Given the description of an element on the screen output the (x, y) to click on. 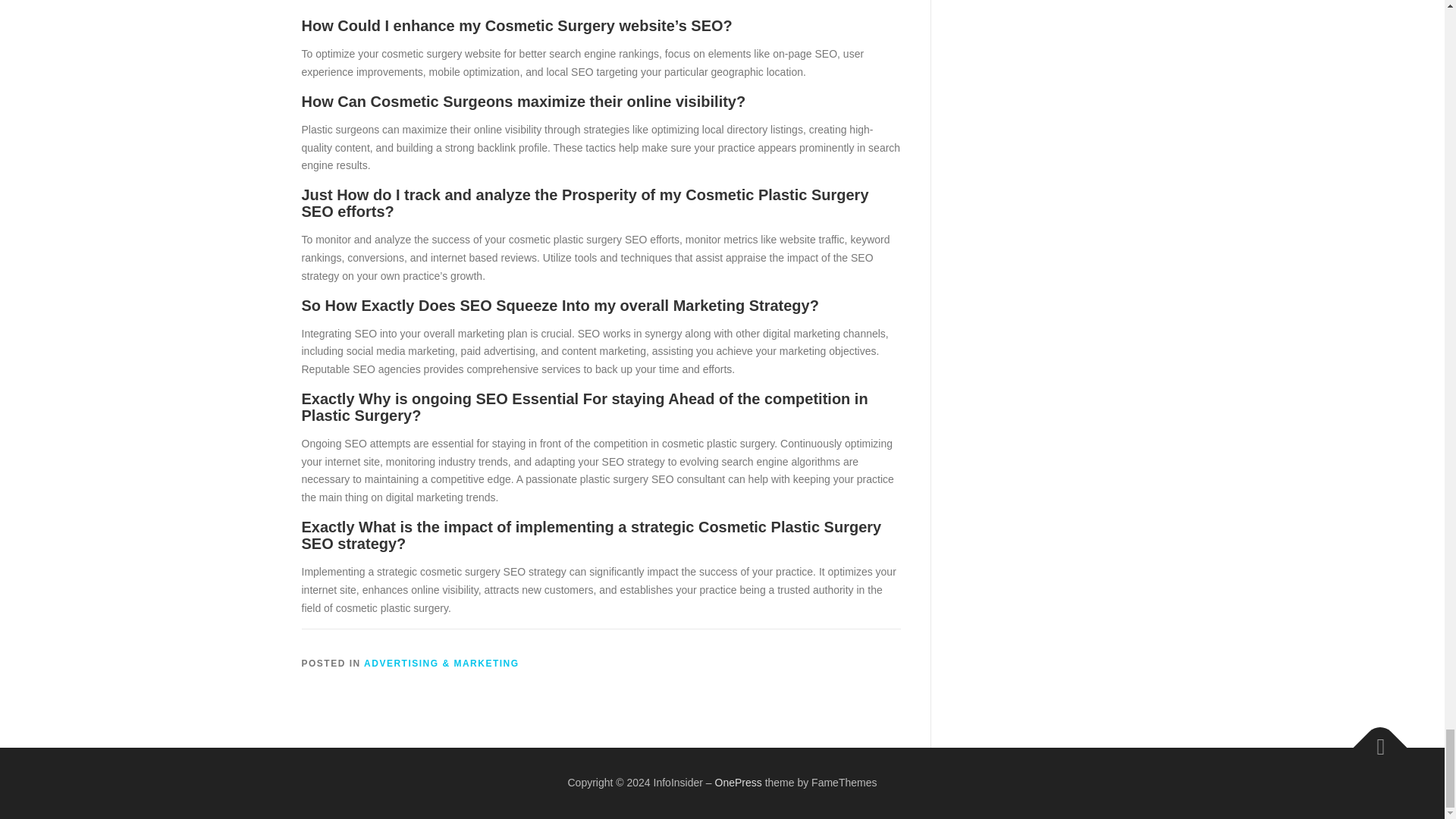
Back To Top (1372, 740)
